Given the description of an element on the screen output the (x, y) to click on. 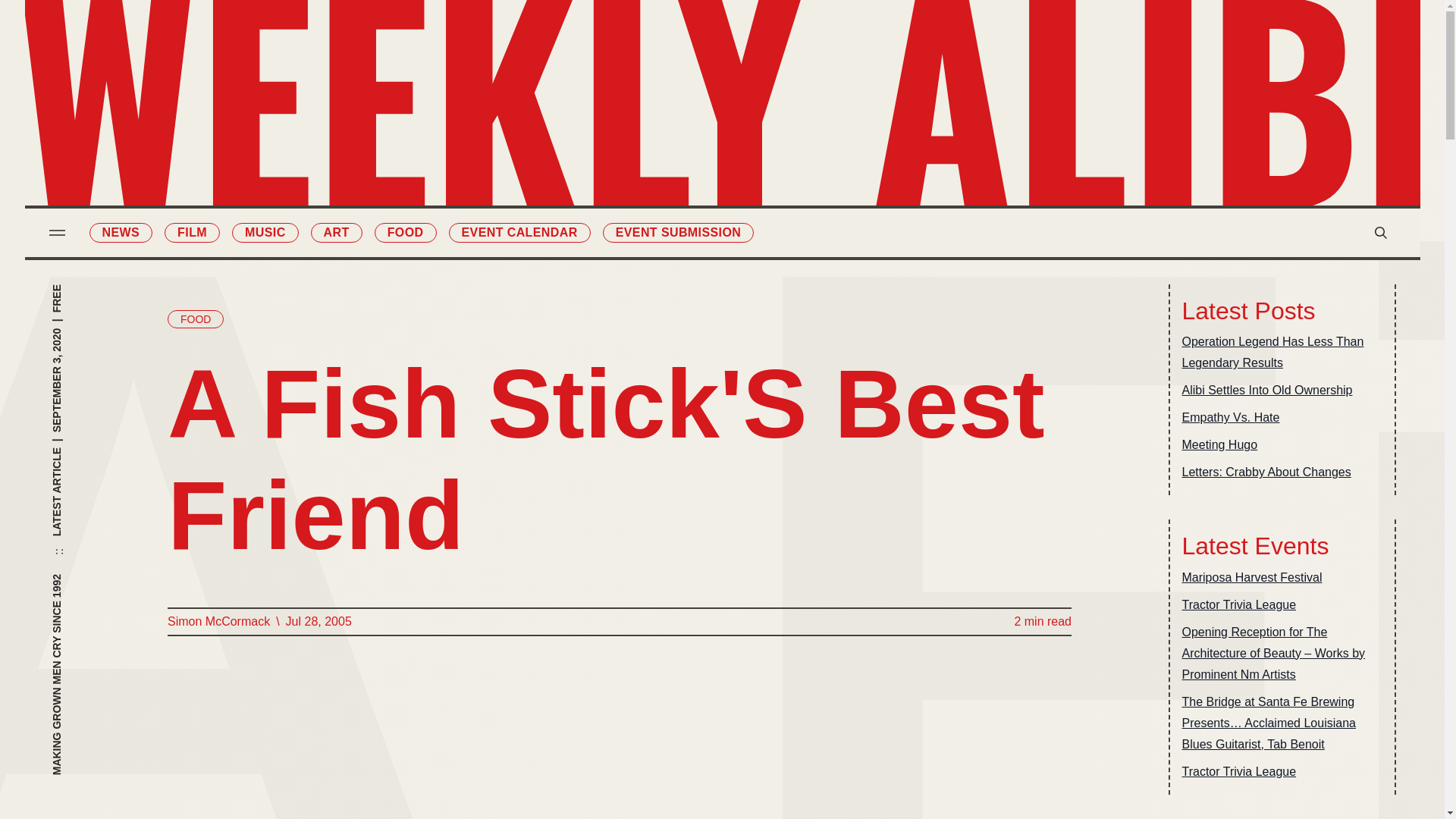
MUSIC (264, 232)
FOOD (405, 232)
Simon McCormack (218, 621)
NEWS (120, 232)
FILM (191, 232)
EVENT SUBMISSION (678, 232)
EVENT CALENDAR (519, 232)
ART (336, 232)
FOOD (194, 319)
